Given the description of an element on the screen output the (x, y) to click on. 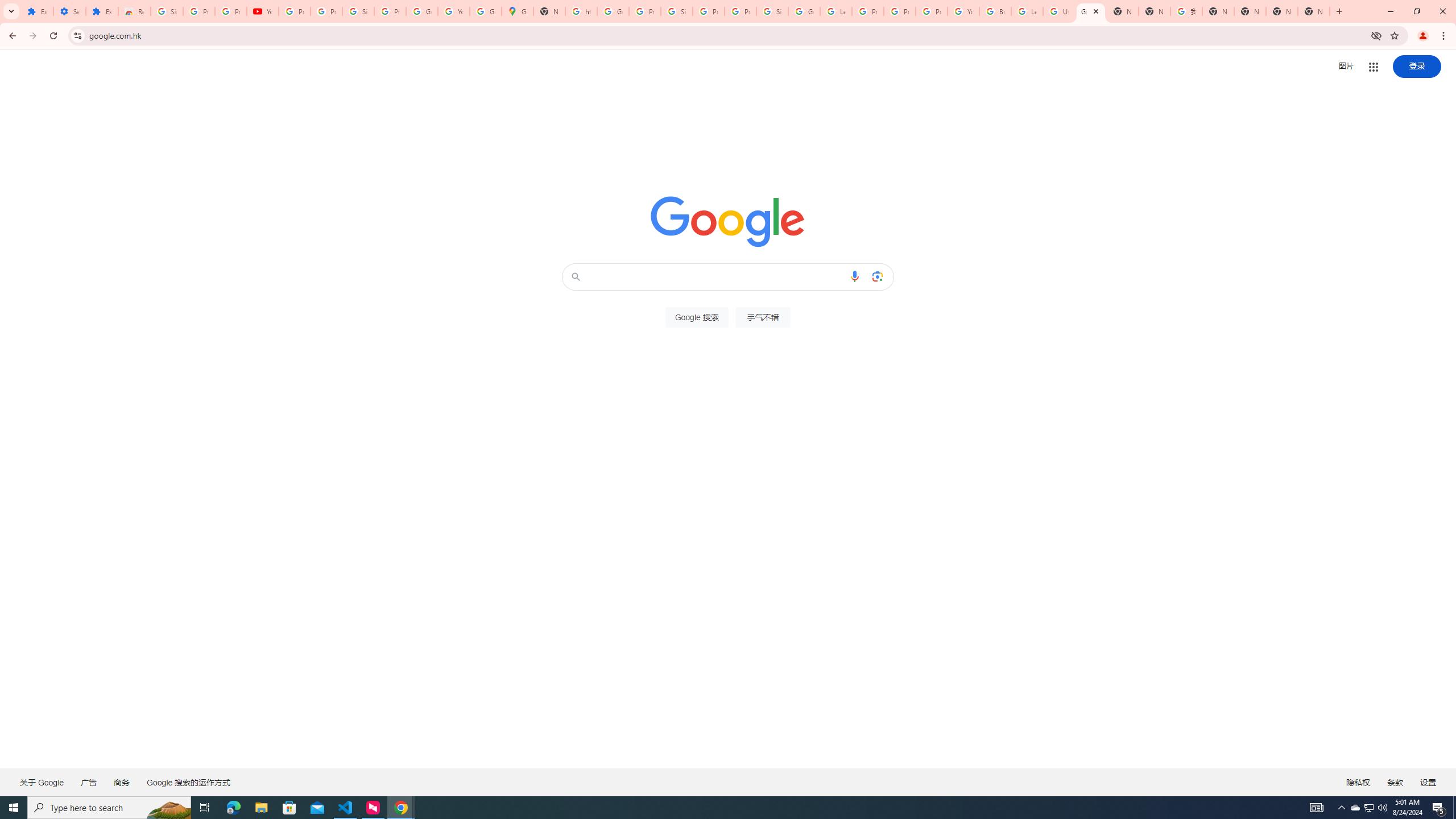
https://scholar.google.com/ (581, 11)
YouTube (963, 11)
